Given the description of an element on the screen output the (x, y) to click on. 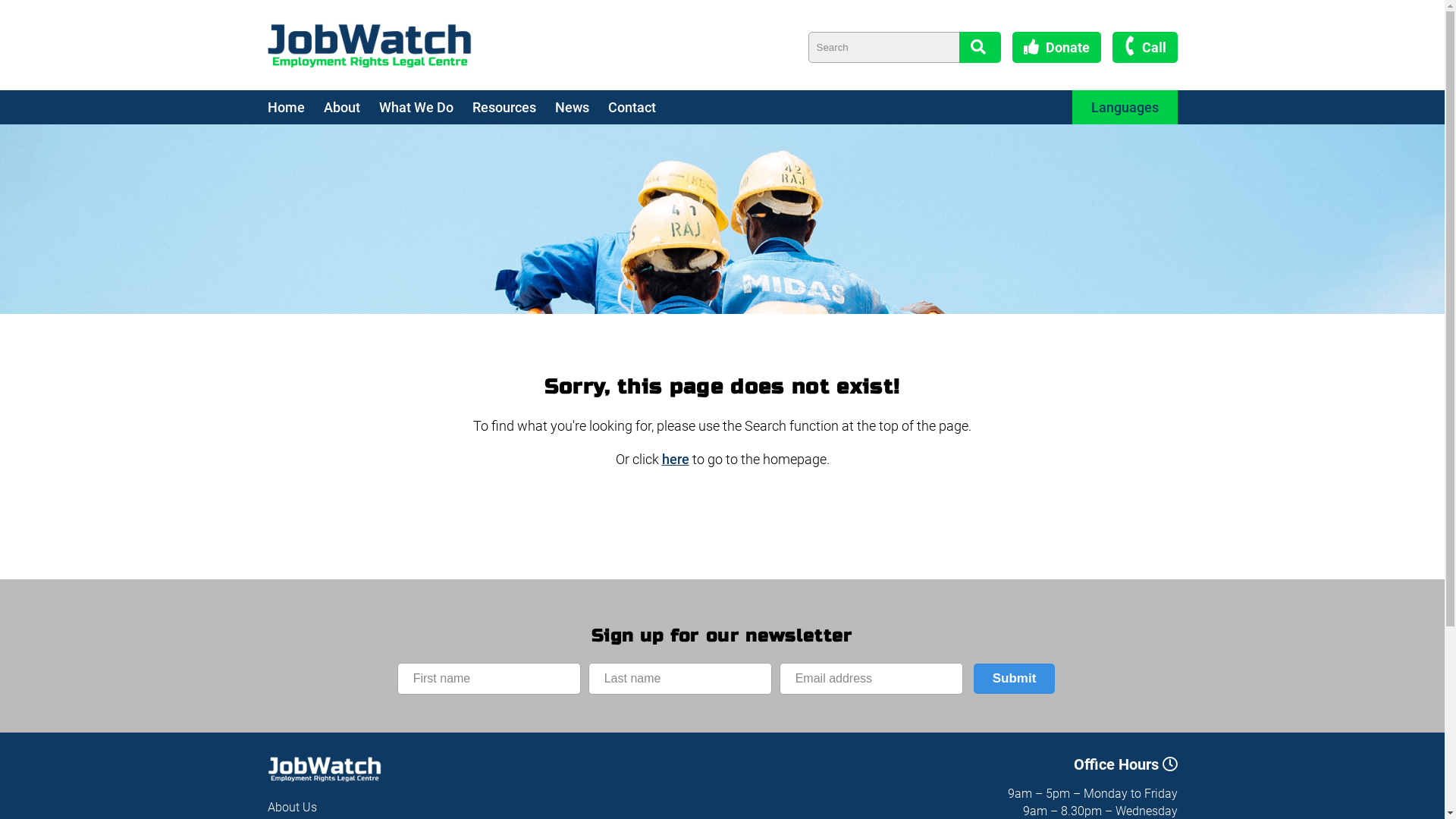
Languages Element type: text (1124, 107)
Contact Element type: text (641, 107)
Search Element type: text (979, 46)
Call Element type: text (1143, 46)
What We Do Element type: text (425, 107)
Home Element type: text (294, 107)
here Element type: text (674, 459)
Resources Element type: text (512, 107)
Donate Element type: text (1055, 46)
News Element type: text (581, 107)
About Element type: text (350, 107)
Submit Element type: text (1014, 678)
